Given the description of an element on the screen output the (x, y) to click on. 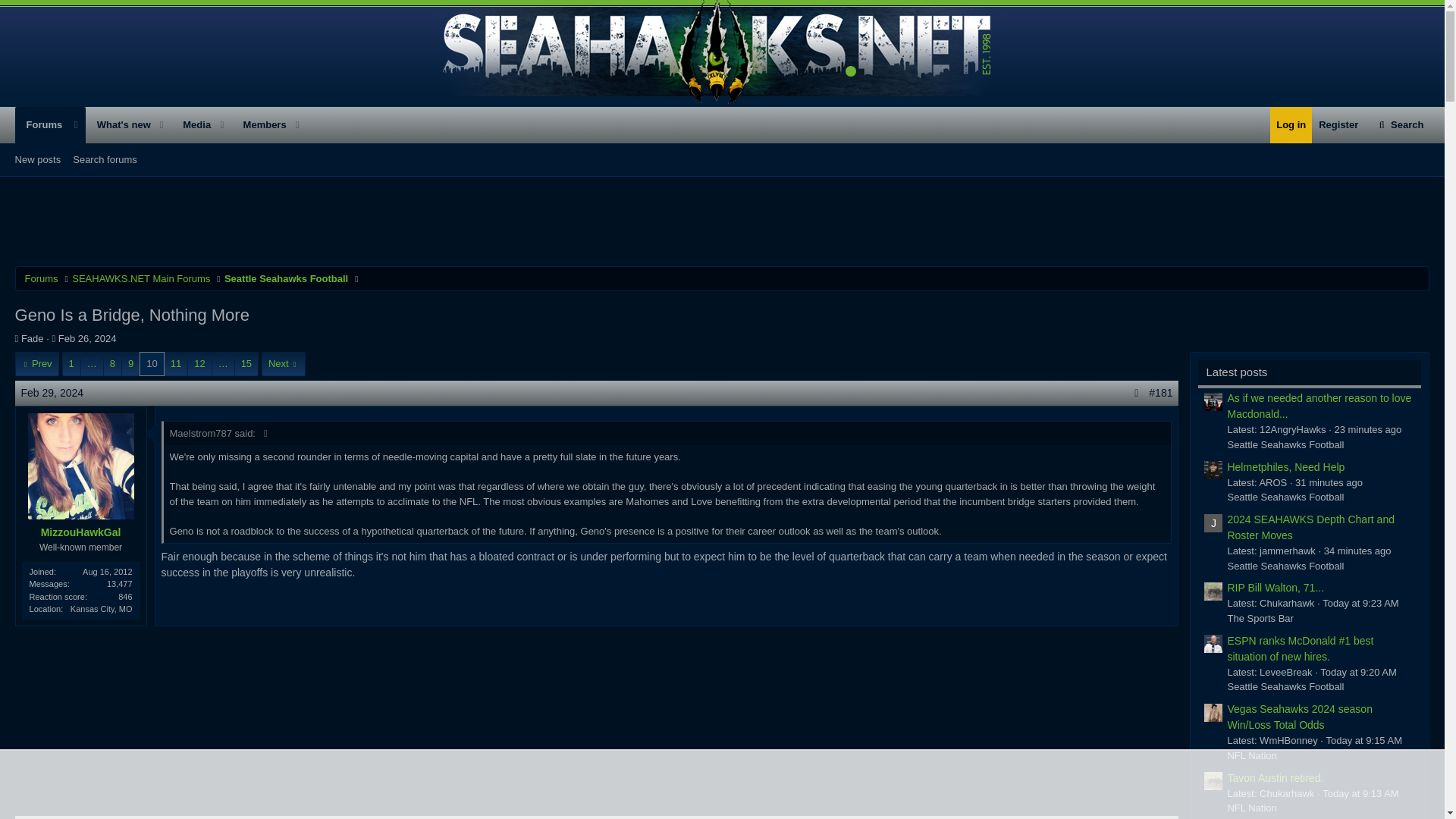
Search forums (104, 159)
Feb 26, 2024 at 12:47 AM (87, 337)
Search (1399, 125)
Log in (721, 177)
Seattle Seahawks Football (1290, 125)
Forums (285, 278)
Fade (41, 278)
Forums (32, 337)
Members (40, 125)
